Given the description of an element on the screen output the (x, y) to click on. 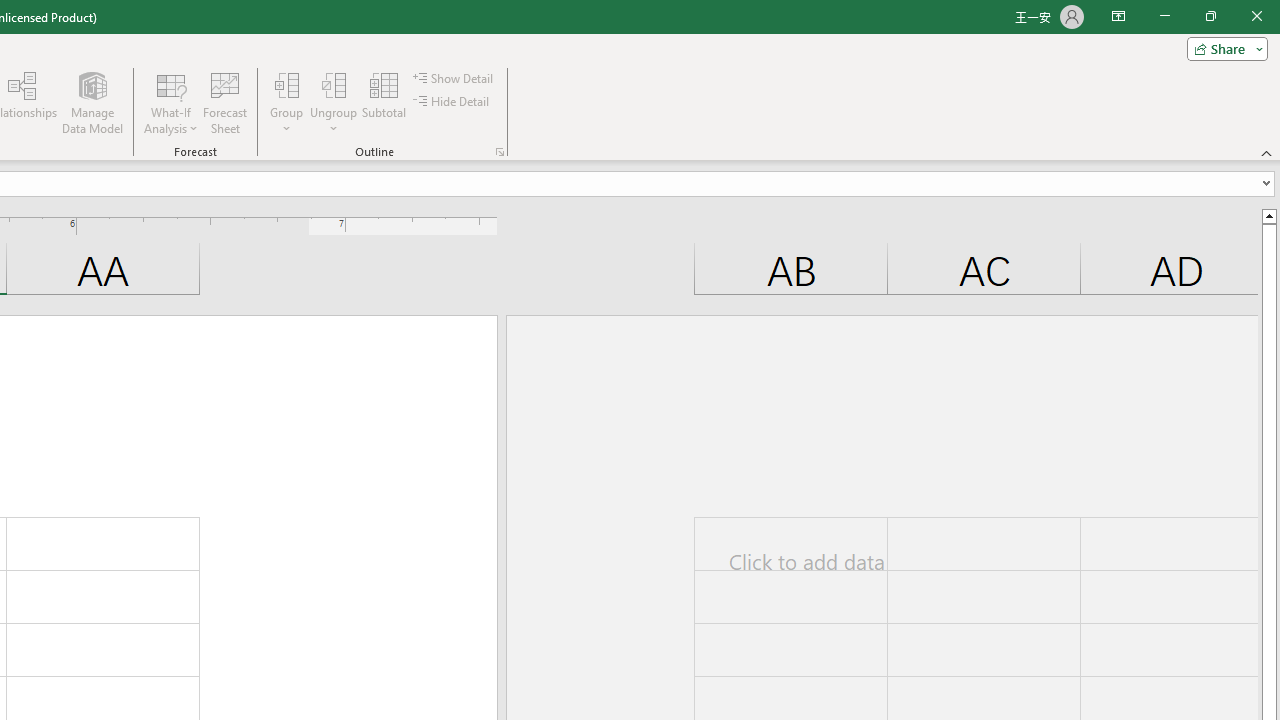
Hide Detail (452, 101)
Line up (1268, 215)
Close (1256, 16)
Group... (287, 84)
Group and Outline Settings (499, 151)
